Given the description of an element on the screen output the (x, y) to click on. 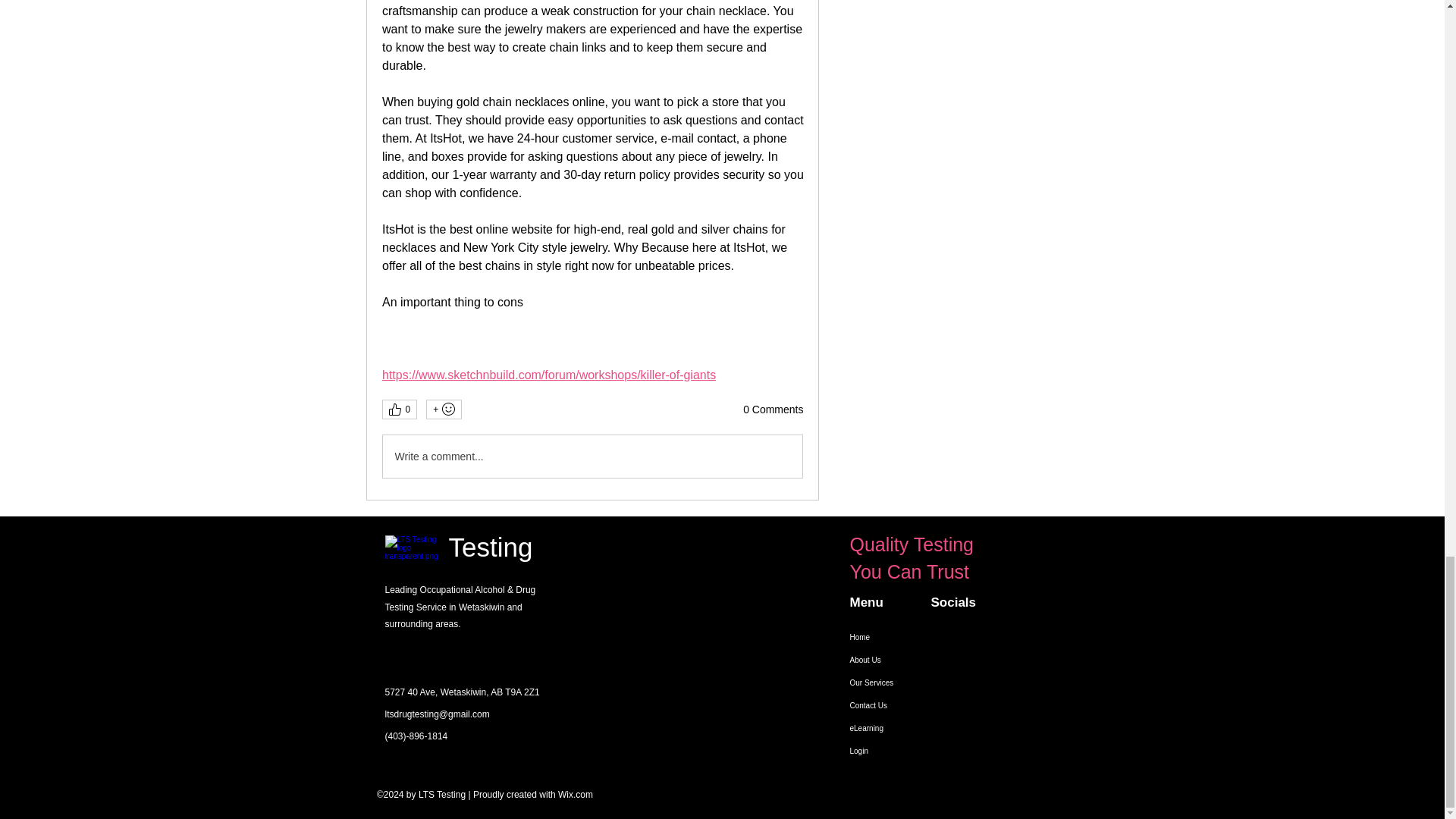
0 Comments (772, 409)
Write a comment... (591, 455)
Testing (490, 546)
